Given the description of an element on the screen output the (x, y) to click on. 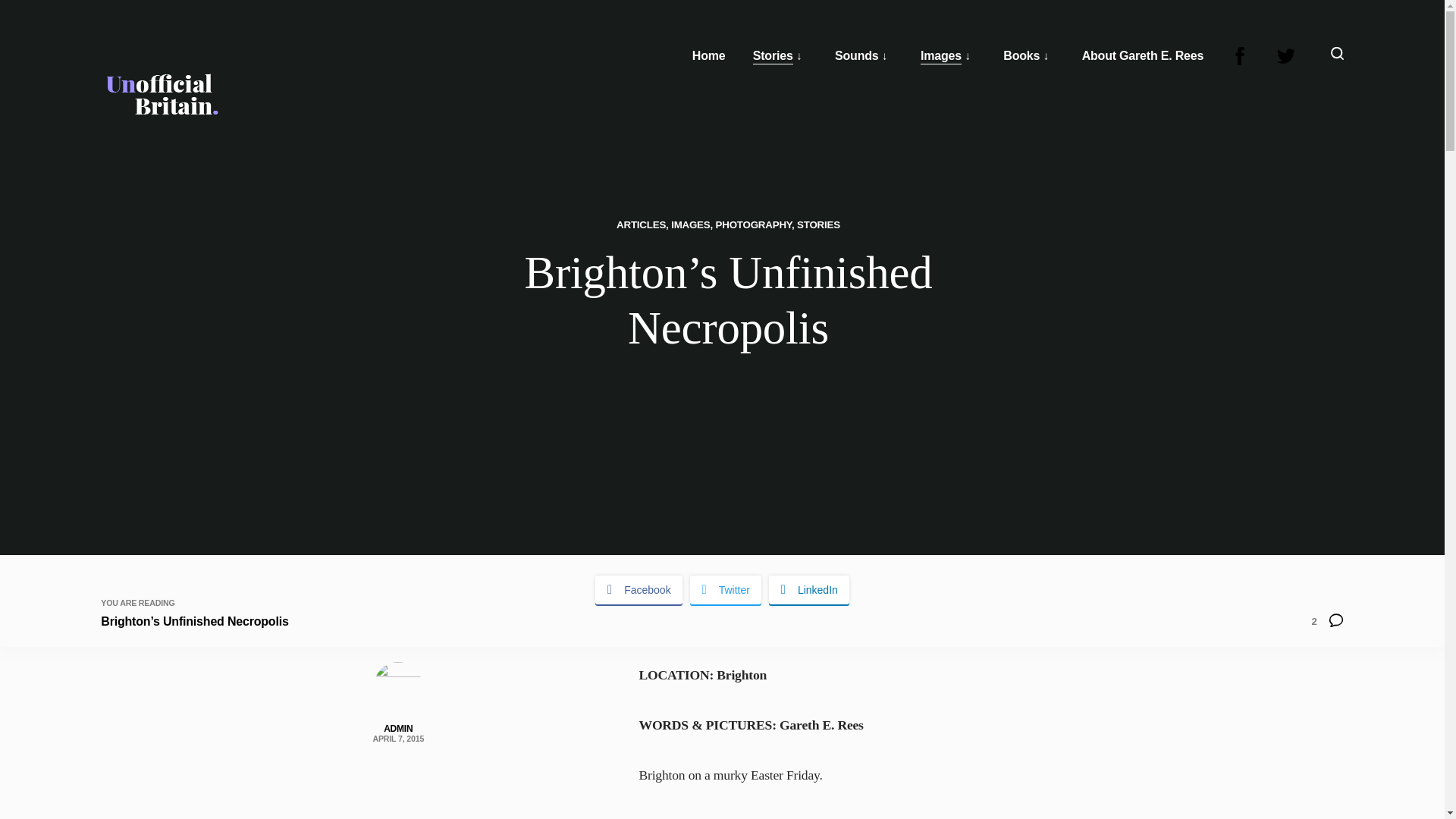
LinkedIn (808, 589)
Books (1021, 56)
STORIES (818, 224)
Stories (772, 56)
Sounds (855, 56)
Twitter (725, 589)
Facebook (638, 589)
About Gareth E. Rees (1142, 56)
ARTICLES (640, 224)
Home (709, 56)
